Given the description of an element on the screen output the (x, y) to click on. 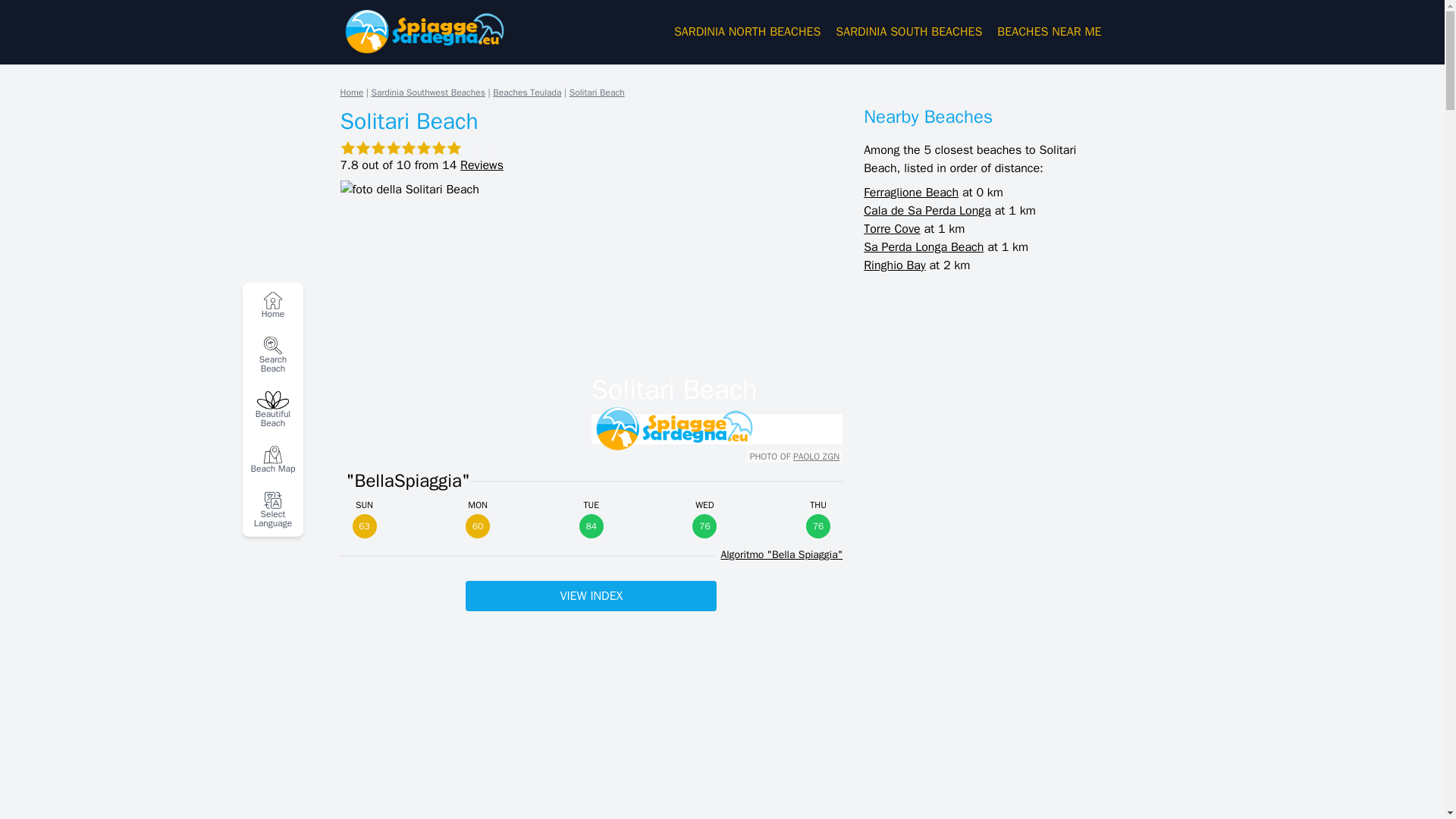
Advertisement (590, 718)
PAOLO ZGN (816, 456)
SARDINIA SOUTH BEACHES (908, 31)
Select Language (272, 508)
BEACHES NEAR ME (1048, 31)
Home (272, 304)
Search Beach (272, 353)
Reviews (481, 165)
Solitari Beach (596, 92)
SARDINIA NORTH BEACHES (747, 31)
